Given the description of an element on the screen output the (x, y) to click on. 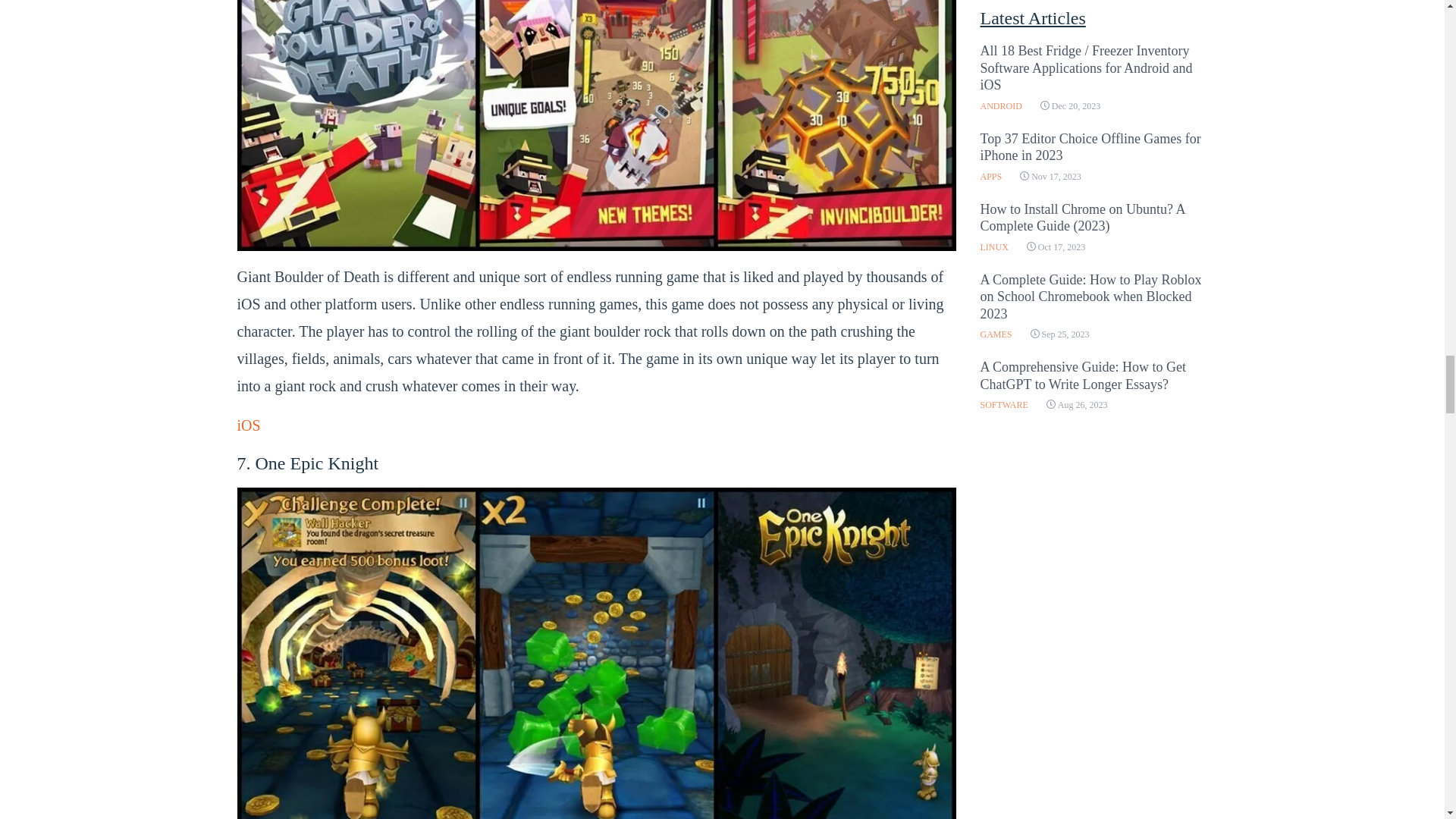
iOS (247, 425)
